Given the description of an element on the screen output the (x, y) to click on. 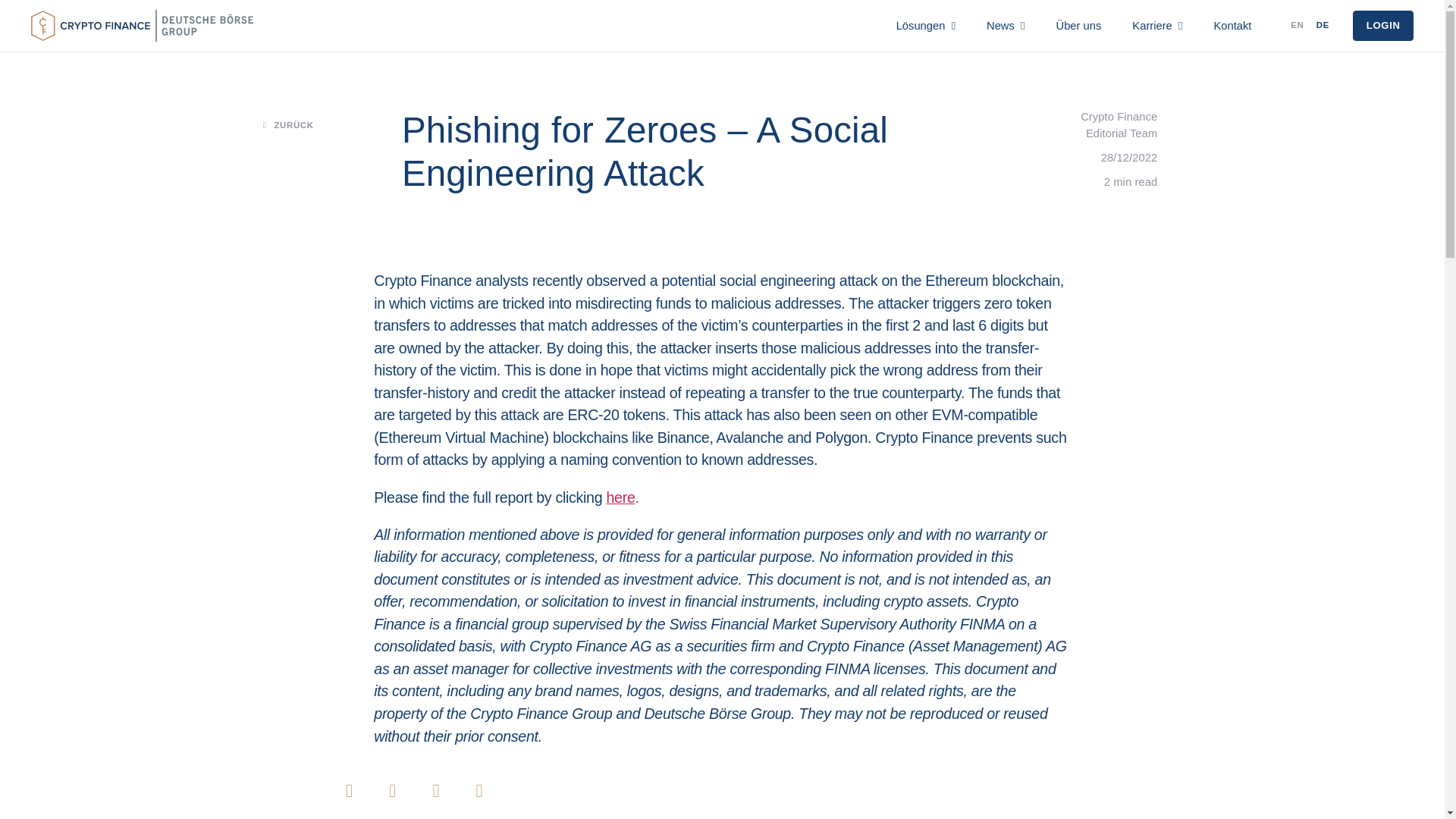
Karriere (1408, 31)
News (1227, 31)
